Given the description of an element on the screen output the (x, y) to click on. 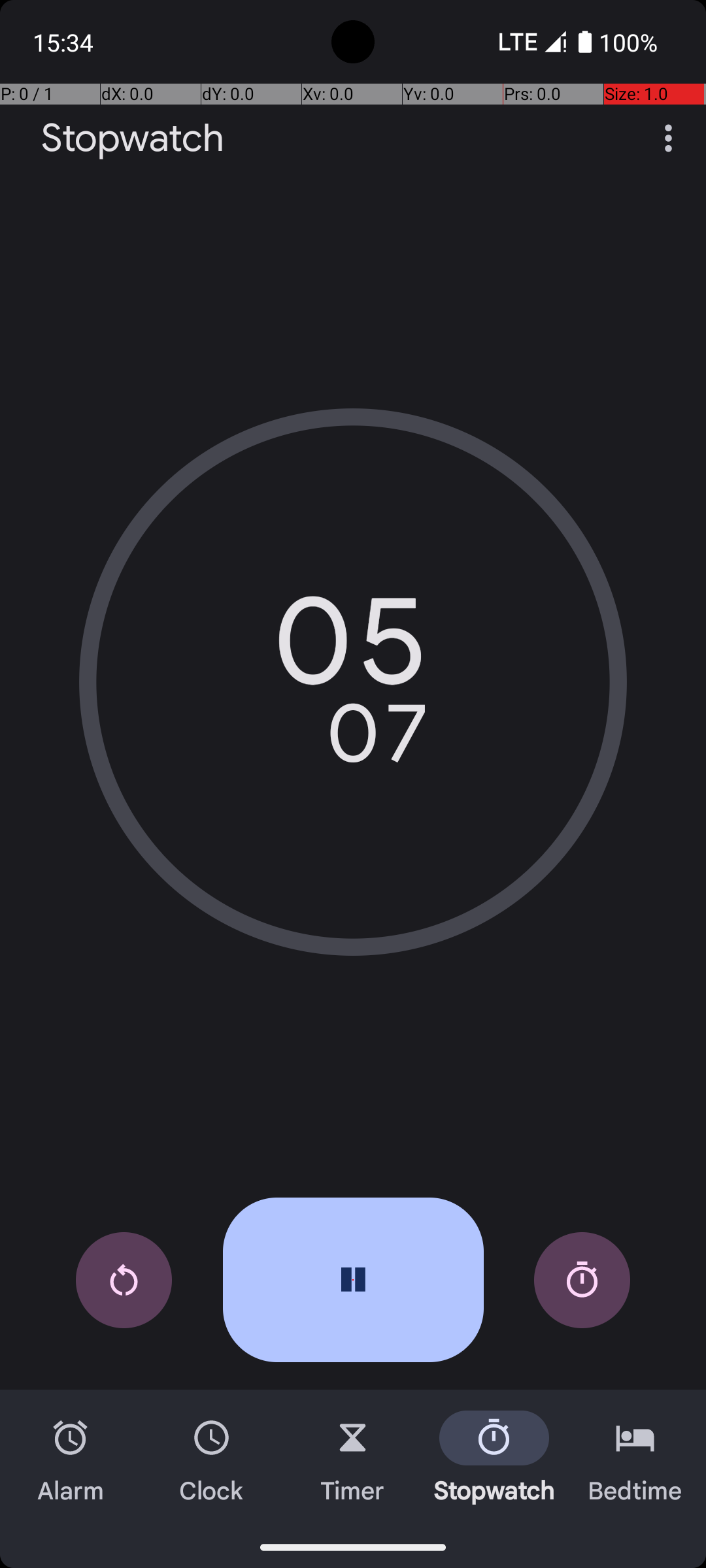
Pause Element type: android.widget.Button (352, 1279)
Lap Element type: android.widget.ImageButton (582, 1280)
